Given the description of an element on the screen output the (x, y) to click on. 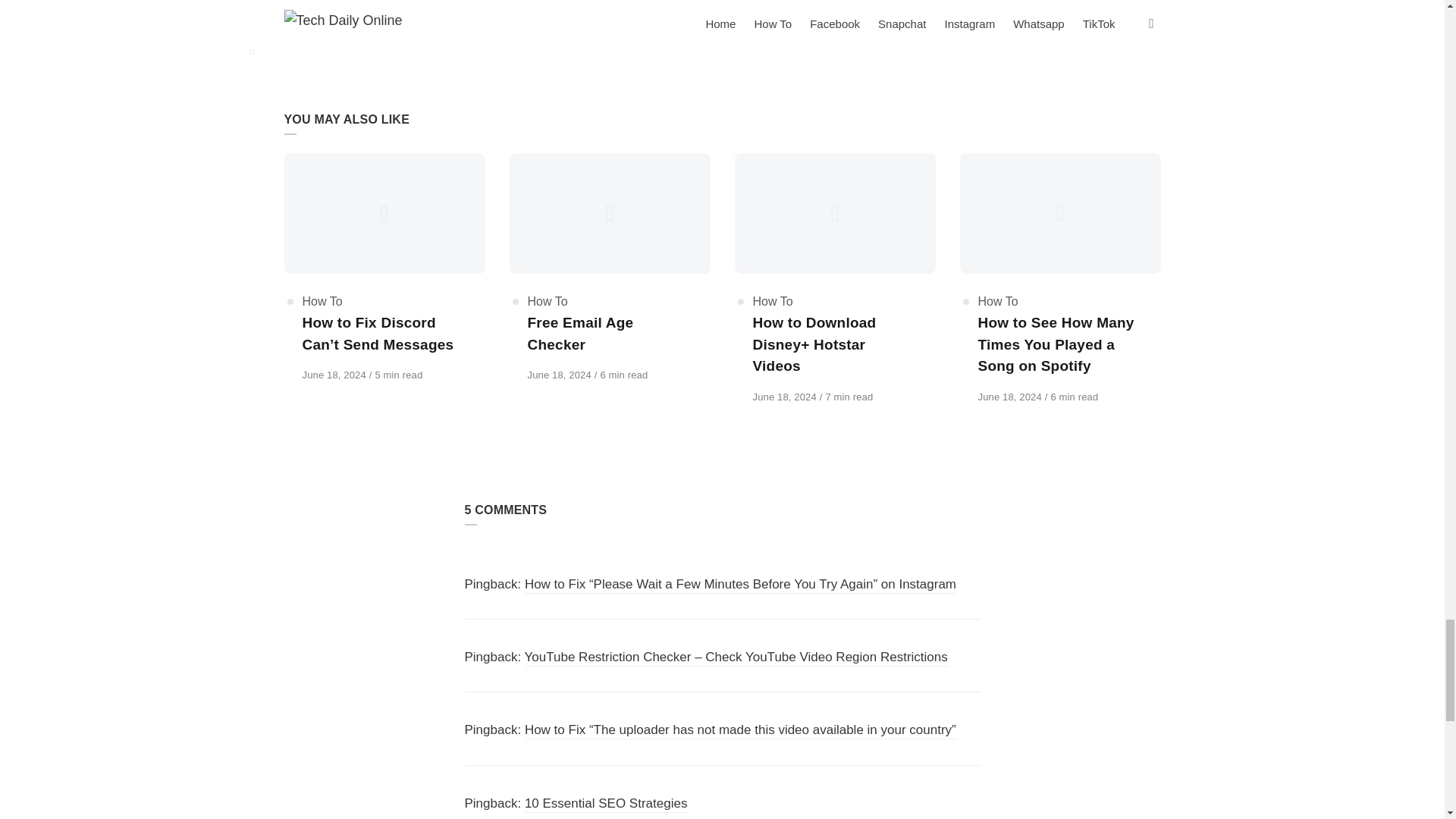
June 18, 2024 (785, 396)
June 18, 2024 (1011, 396)
June 18, 2024 (560, 374)
How to See Who I am Following on LinkedIn (465, 15)
June 18, 2024 (334, 374)
